Given the description of an element on the screen output the (x, y) to click on. 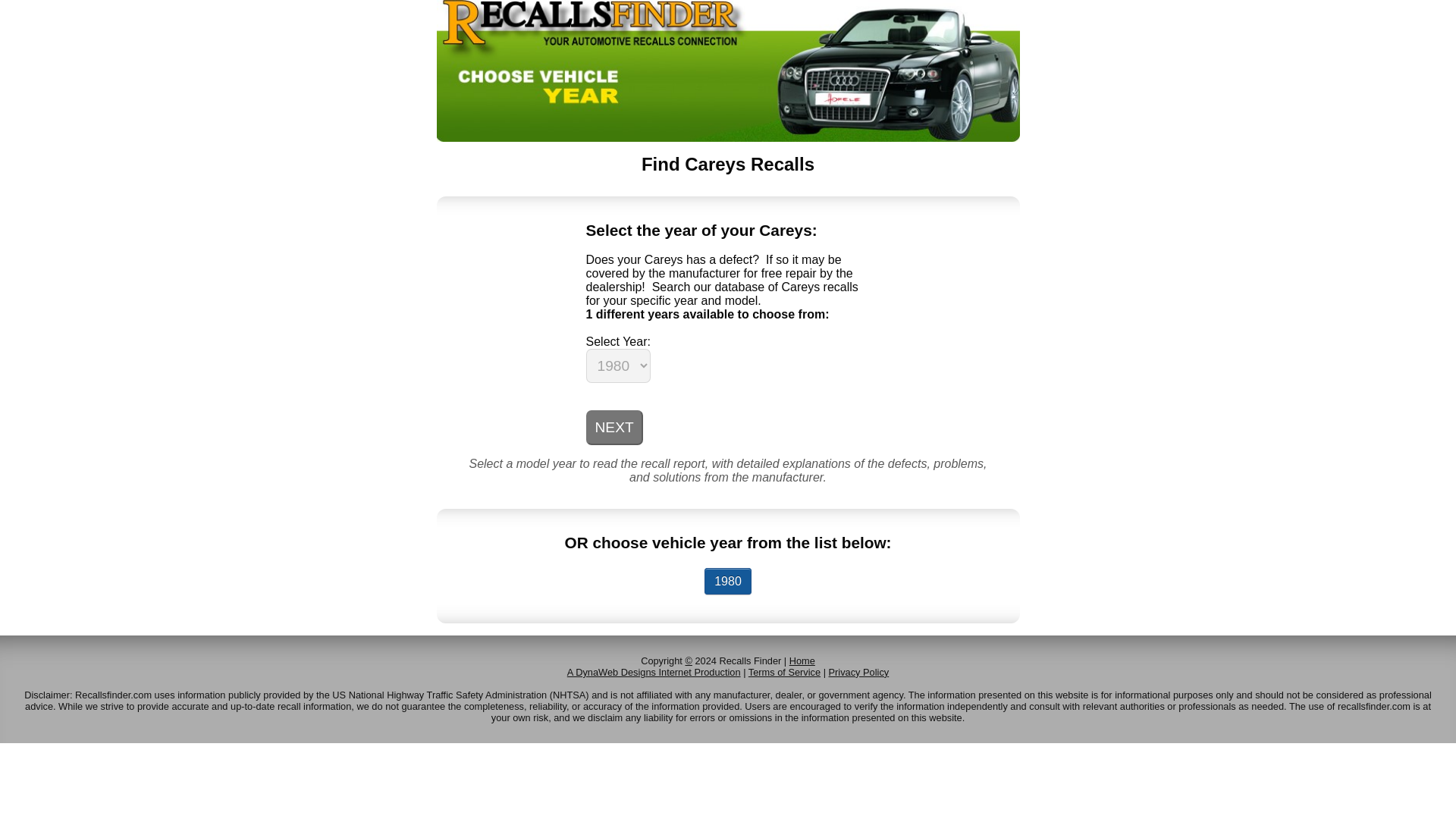
Home (802, 660)
NEXT (613, 427)
Privacy Policy (858, 672)
A DynaWeb Designs Internet Production (654, 672)
Terms of Service (784, 672)
 Careys recalls (727, 581)
1980 (727, 581)
Back to Home (728, 137)
